Given the description of an element on the screen output the (x, y) to click on. 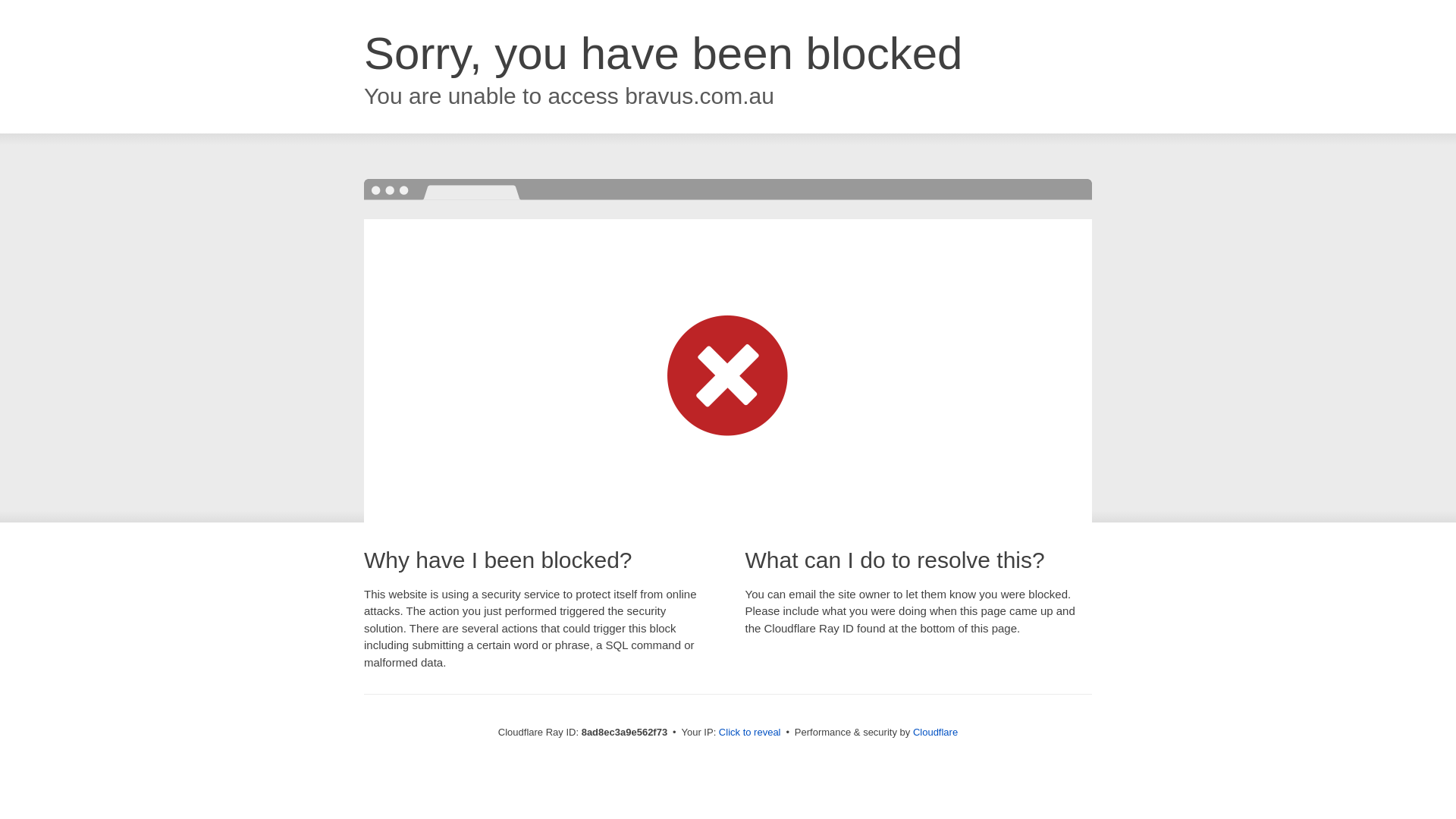
Click to reveal (749, 732)
Cloudflare (935, 731)
